Given the description of an element on the screen output the (x, y) to click on. 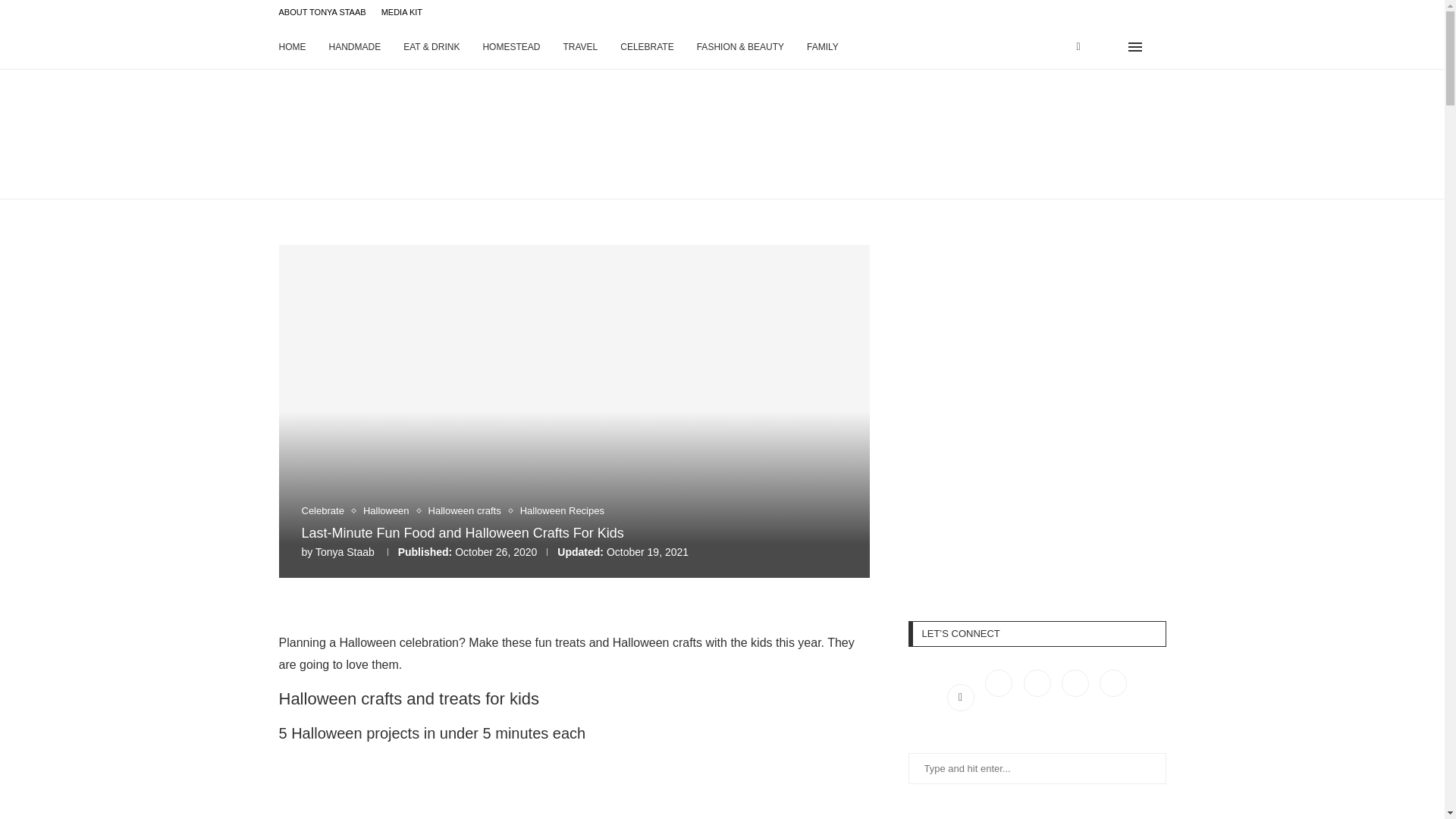
ABOUT TONYA STAAB (322, 12)
MEDIA KIT (401, 12)
Halloween (389, 510)
Halloween crafts (468, 510)
Tonya Staab (344, 551)
CELEBRATE (646, 46)
HANDMADE (355, 46)
Halloween Recipes (561, 510)
Celebrate (326, 510)
HOMESTEAD (510, 46)
